Given the description of an element on the screen output the (x, y) to click on. 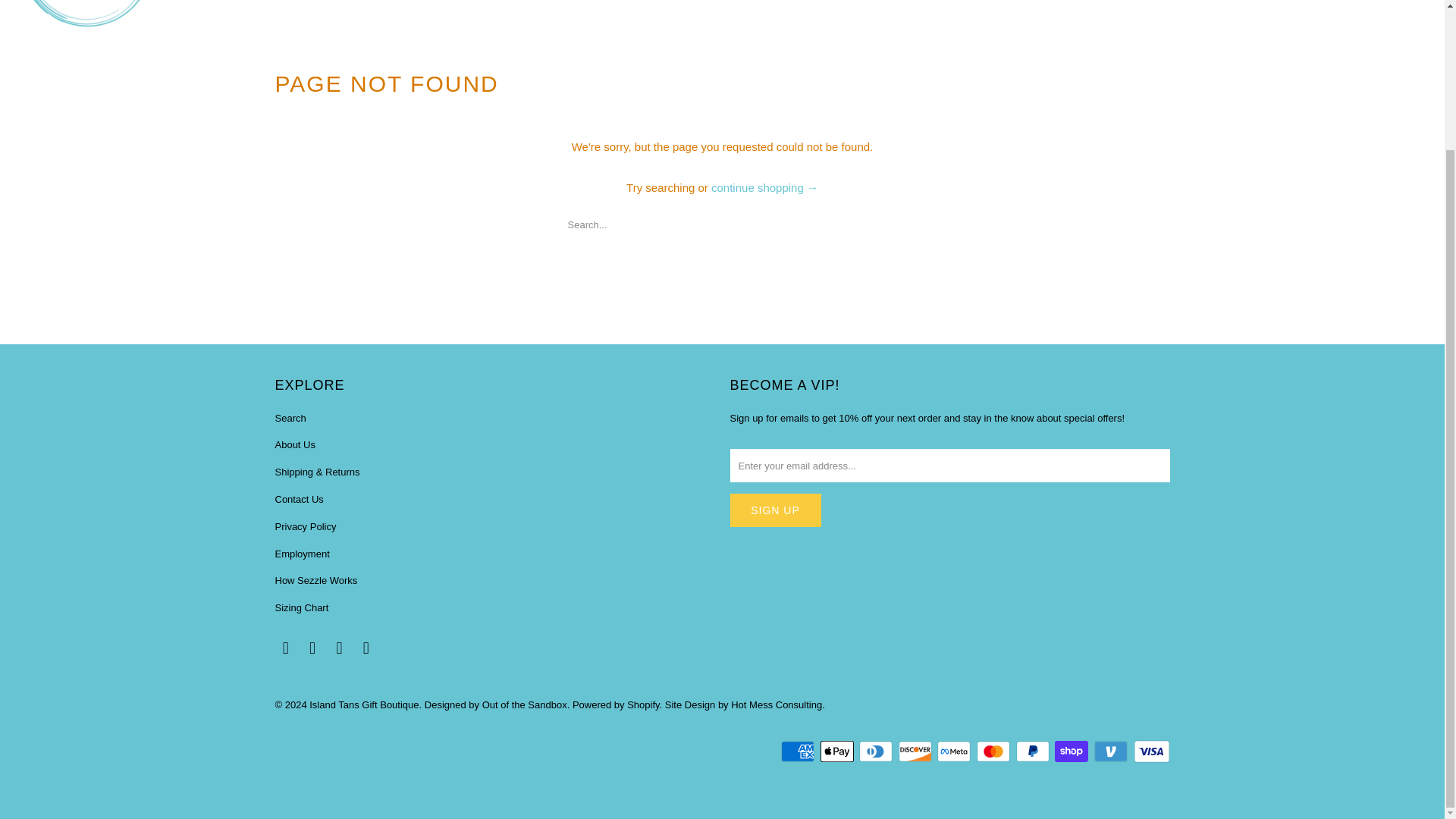
Shop Pay (1072, 751)
Apple Pay (839, 751)
Island Tans Gift Boutique (84, 16)
American Express (798, 751)
Island Tans Gift Boutique on Snapchat (366, 648)
Diners Club (877, 751)
Meta Pay (955, 751)
Mastercard (994, 751)
Island Tans Gift Boutique on Twitter (286, 648)
Venmo (1112, 751)
